Given the description of an element on the screen output the (x, y) to click on. 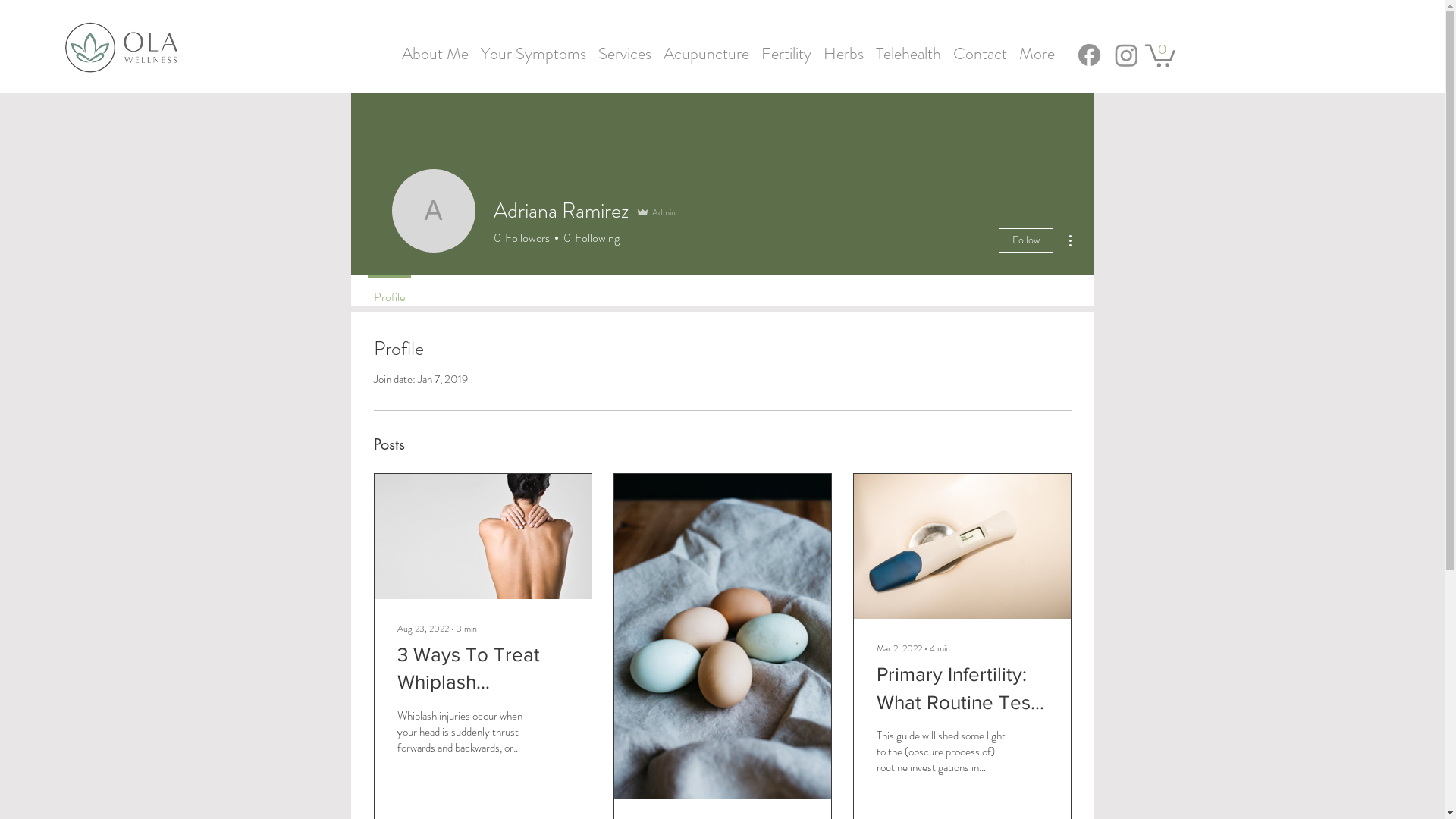
About Me Element type: text (434, 46)
0 Element type: text (1160, 54)
adr3_edited.png Element type: hover (120, 46)
Acupuncture Element type: text (706, 46)
0
Followers Element type: text (520, 237)
Follow Element type: text (1024, 240)
0
Following Element type: text (588, 237)
Fertility Element type: text (786, 46)
Your Symptoms Element type: text (533, 46)
Profile Element type: text (388, 290)
Telehealth Element type: text (908, 46)
Herbs Element type: text (843, 46)
Services Element type: text (624, 46)
Contact Element type: text (980, 46)
